Given the description of an element on the screen output the (x, y) to click on. 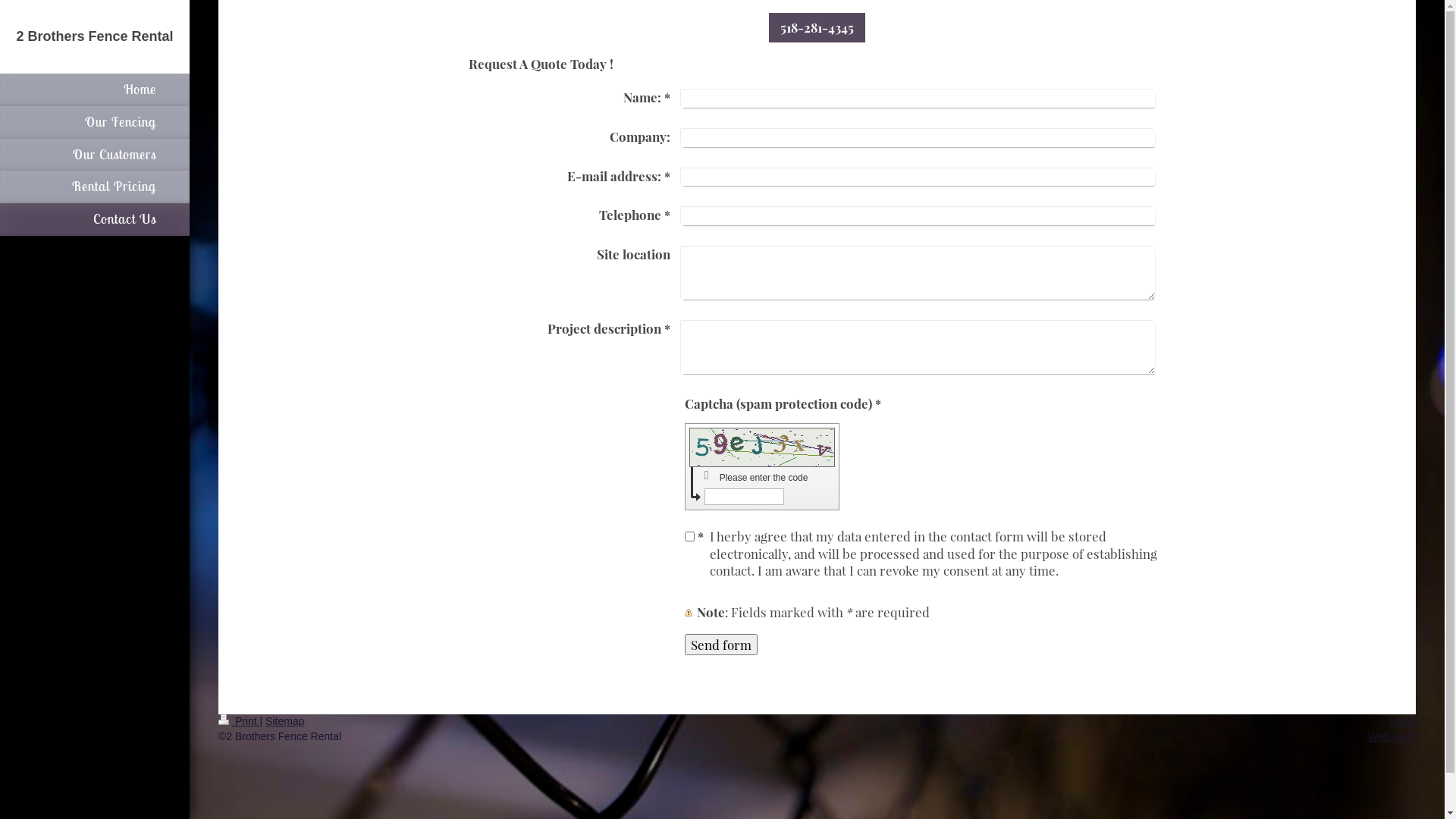
Print Element type: text (239, 721)
518-281-4345 Element type: text (816, 27)
Sitemap Element type: text (284, 721)
Rental Pricing Element type: text (94, 186)
Our Customers Element type: text (94, 154)
Our Fencing Element type: text (94, 122)
Home Element type: text (94, 89)
Login Element type: text (1402, 721)
Web View Element type: text (1391, 736)
Contact Us Element type: text (94, 219)
2 Brothers Fence Rental Element type: text (93, 35)
Send form Element type: text (720, 644)
